Given the description of an element on the screen output the (x, y) to click on. 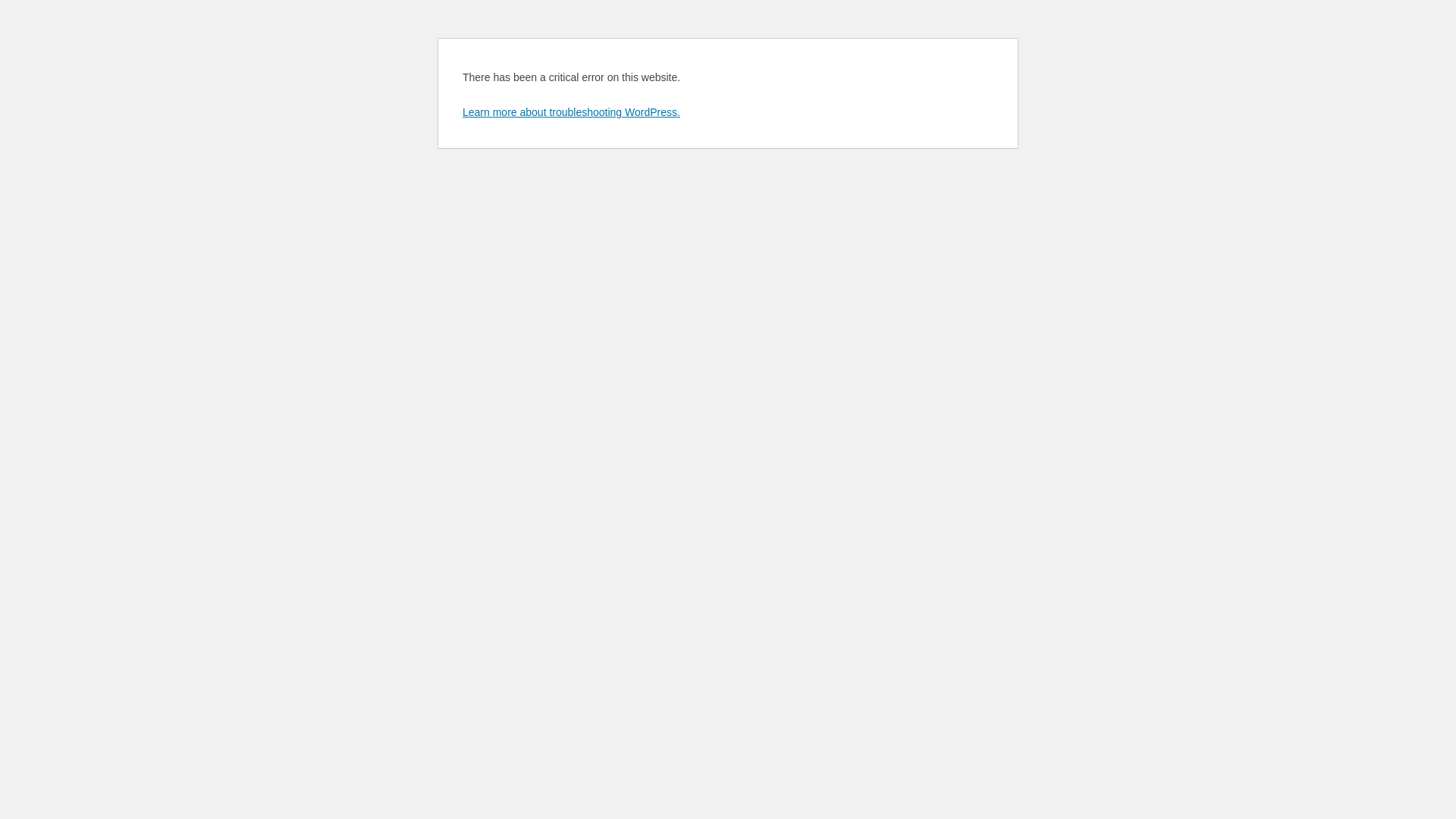
Learn more about troubleshooting WordPress. Element type: text (571, 112)
